Given the description of an element on the screen output the (x, y) to click on. 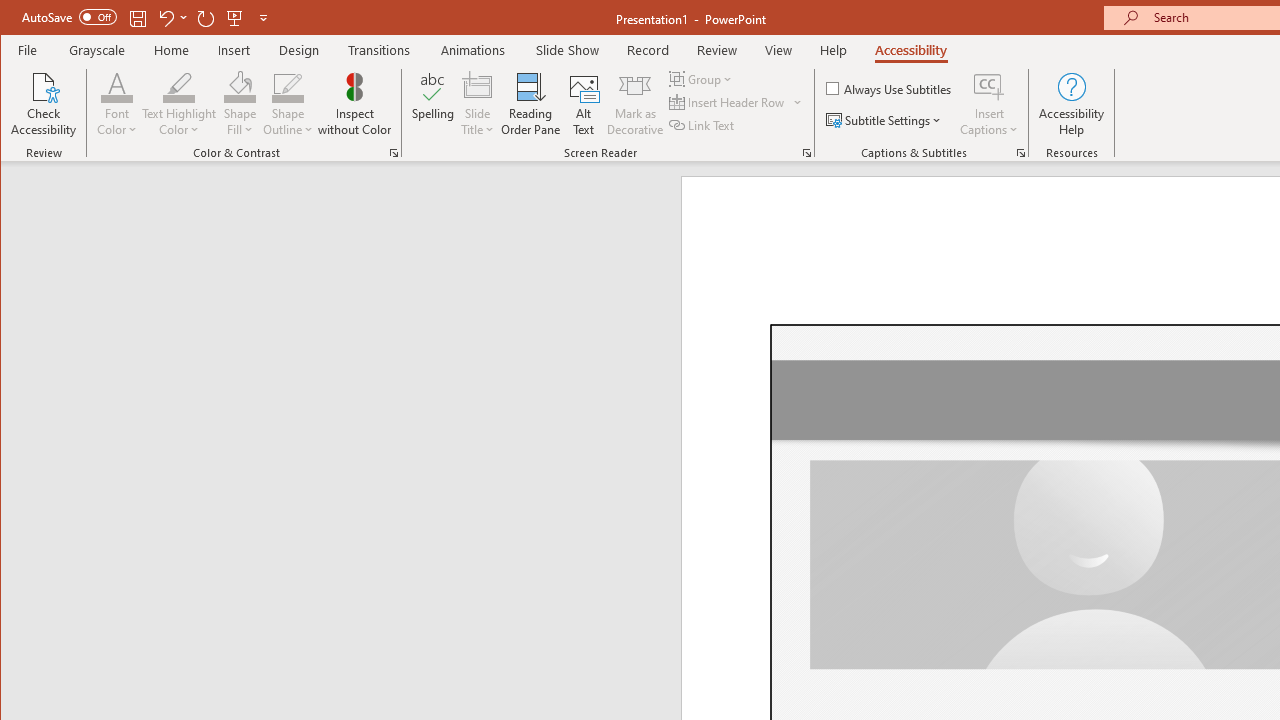
Insert Header Row (728, 101)
Slide Title (477, 104)
